Given the description of an element on the screen output the (x, y) to click on. 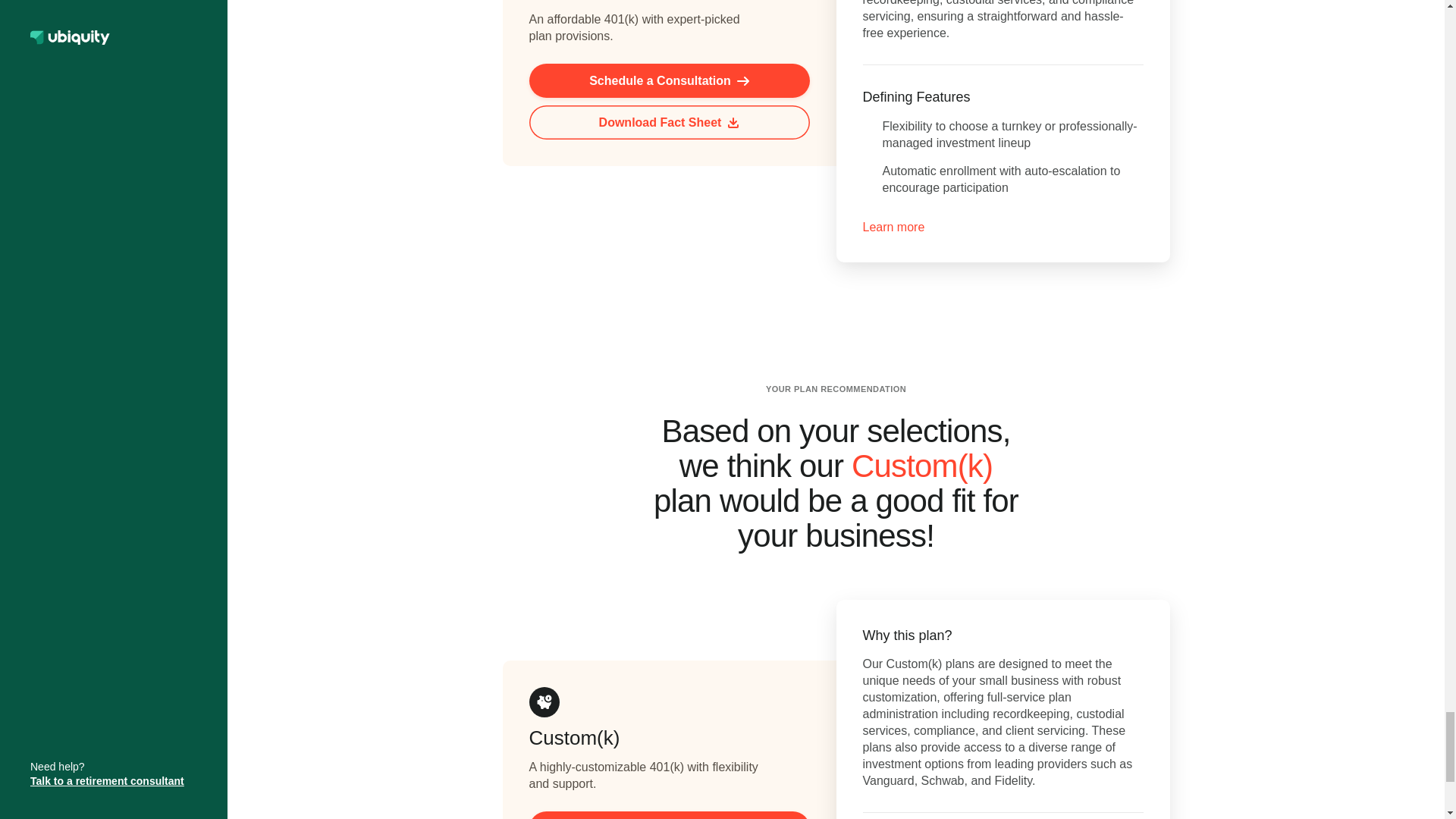
Learn more (893, 227)
Download Fact Sheet (669, 122)
Schedule a Consultation (669, 815)
Schedule a Consultation (669, 80)
